Given the description of an element on the screen output the (x, y) to click on. 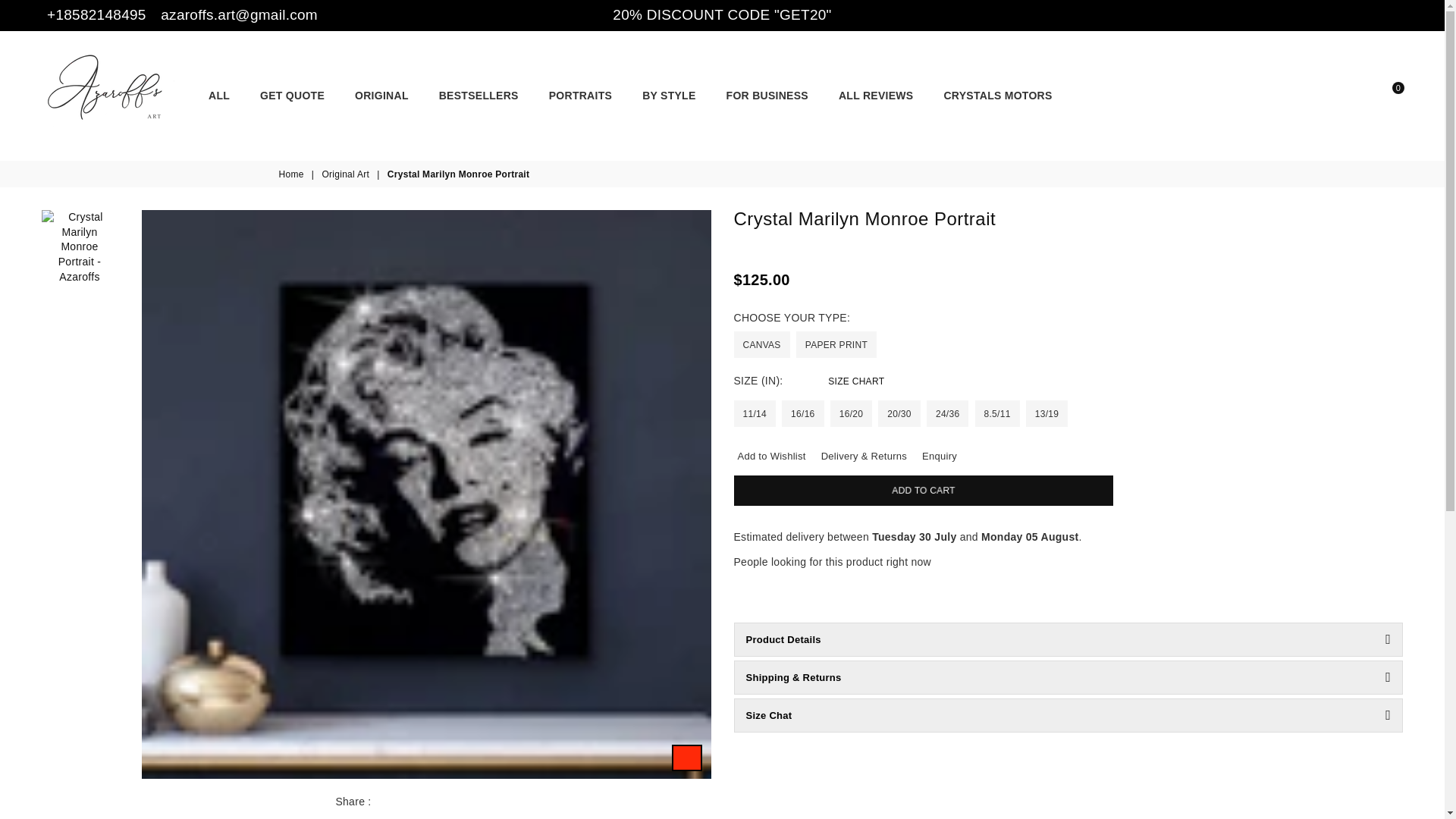
ALL (218, 95)
Back to the home page (292, 174)
Azaroffs (120, 95)
